Given the description of an element on the screen output the (x, y) to click on. 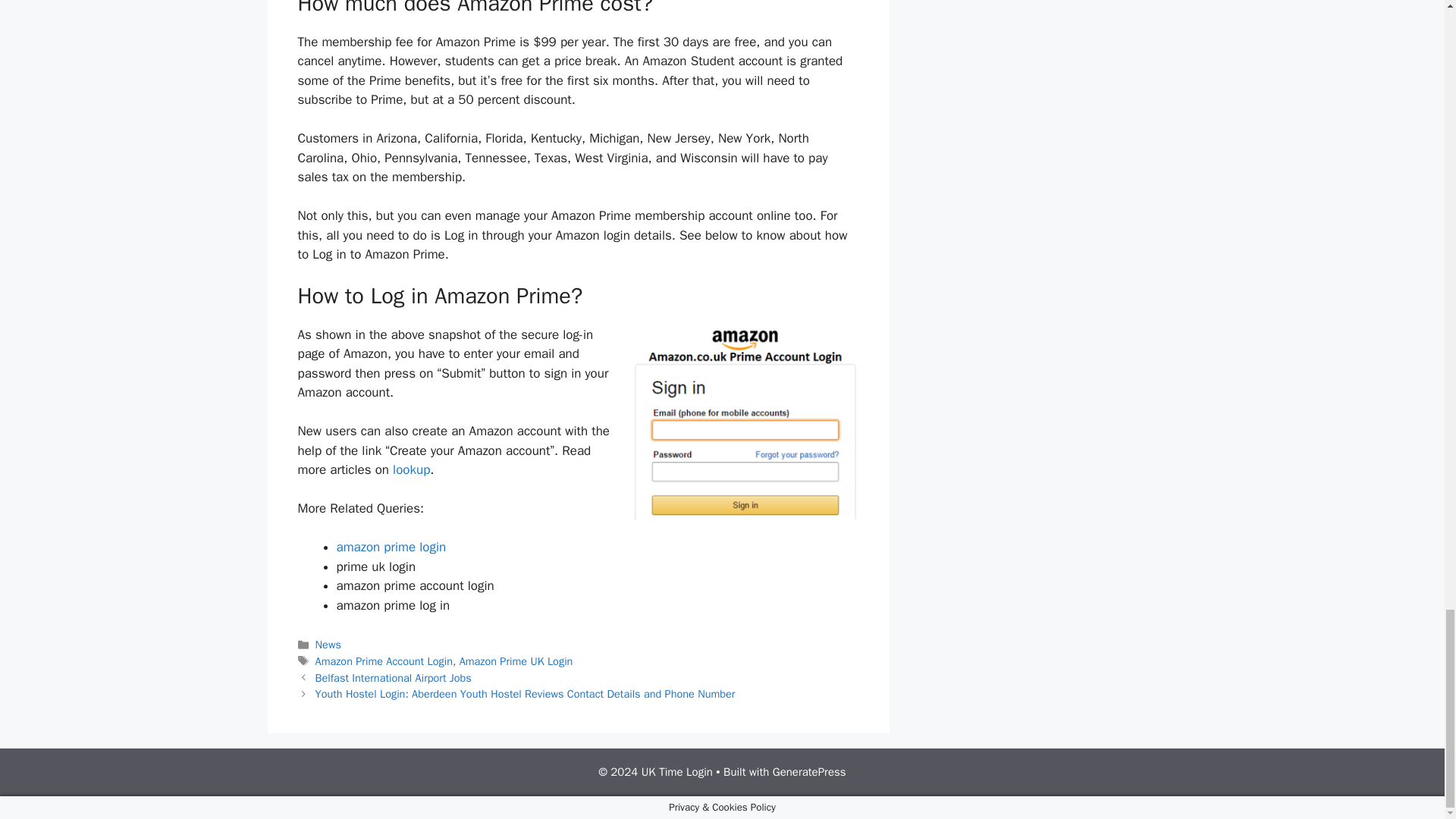
Amazon Prime Account Login (383, 661)
Belfast International Airport Jobs (393, 677)
lookup (411, 469)
Amazon Prime UK Login (516, 661)
News (327, 644)
amazon prime login (391, 546)
